Given the description of an element on the screen output the (x, y) to click on. 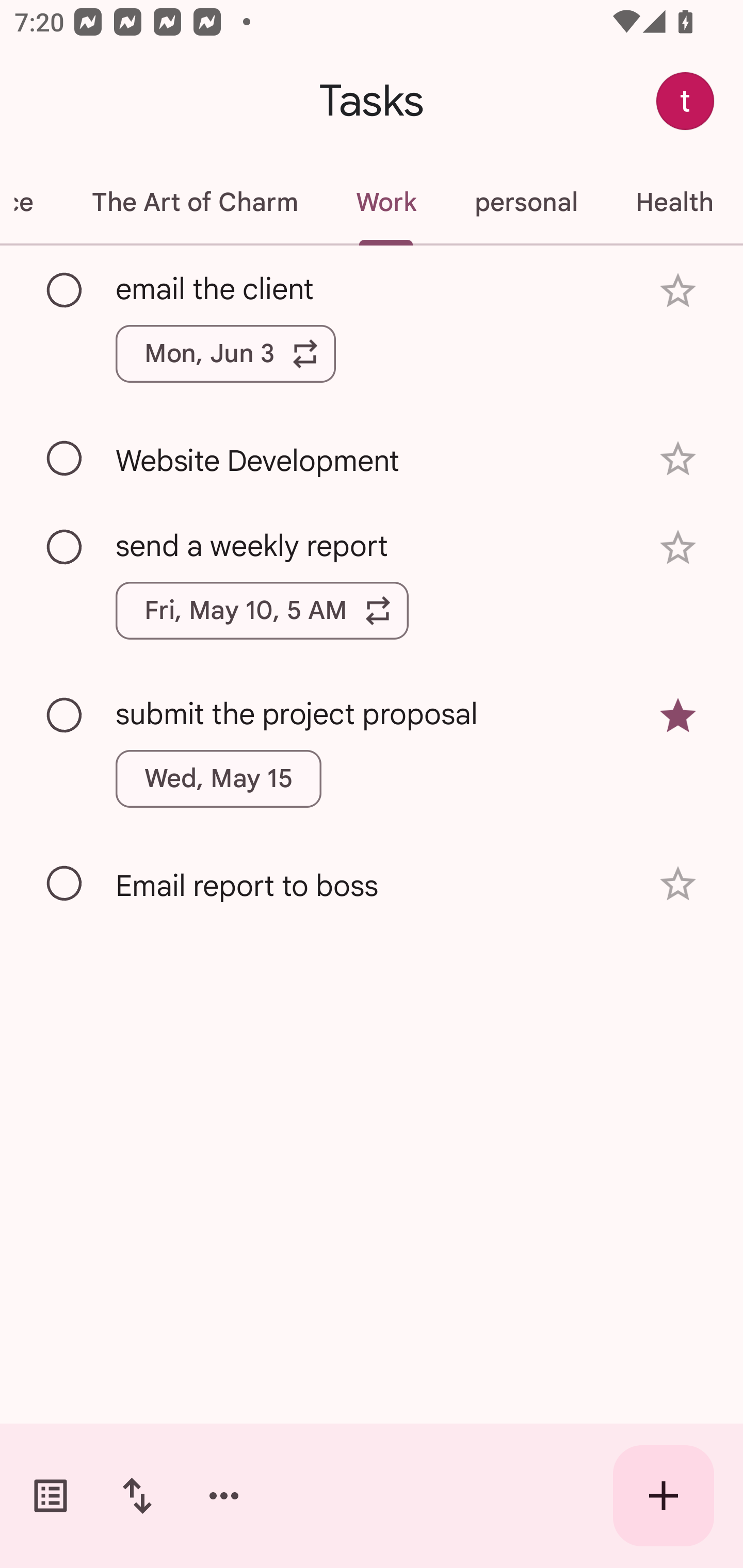
The Art of Charm (194, 202)
personal (525, 202)
Health (674, 202)
Add star (677, 290)
Mark as complete (64, 290)
Mon, Jun 3 (225, 353)
Add star (677, 458)
Mark as complete (64, 459)
Add star (677, 547)
Mark as complete (64, 547)
Fri, May 10, 5 AM (261, 610)
Remove star (677, 715)
Mark as complete (64, 715)
Wed, May 15 (218, 778)
Add star (677, 883)
Mark as complete (64, 884)
Switch task lists (50, 1495)
Create new task (663, 1495)
Change sort order (136, 1495)
More options (223, 1495)
